Given the description of an element on the screen output the (x, y) to click on. 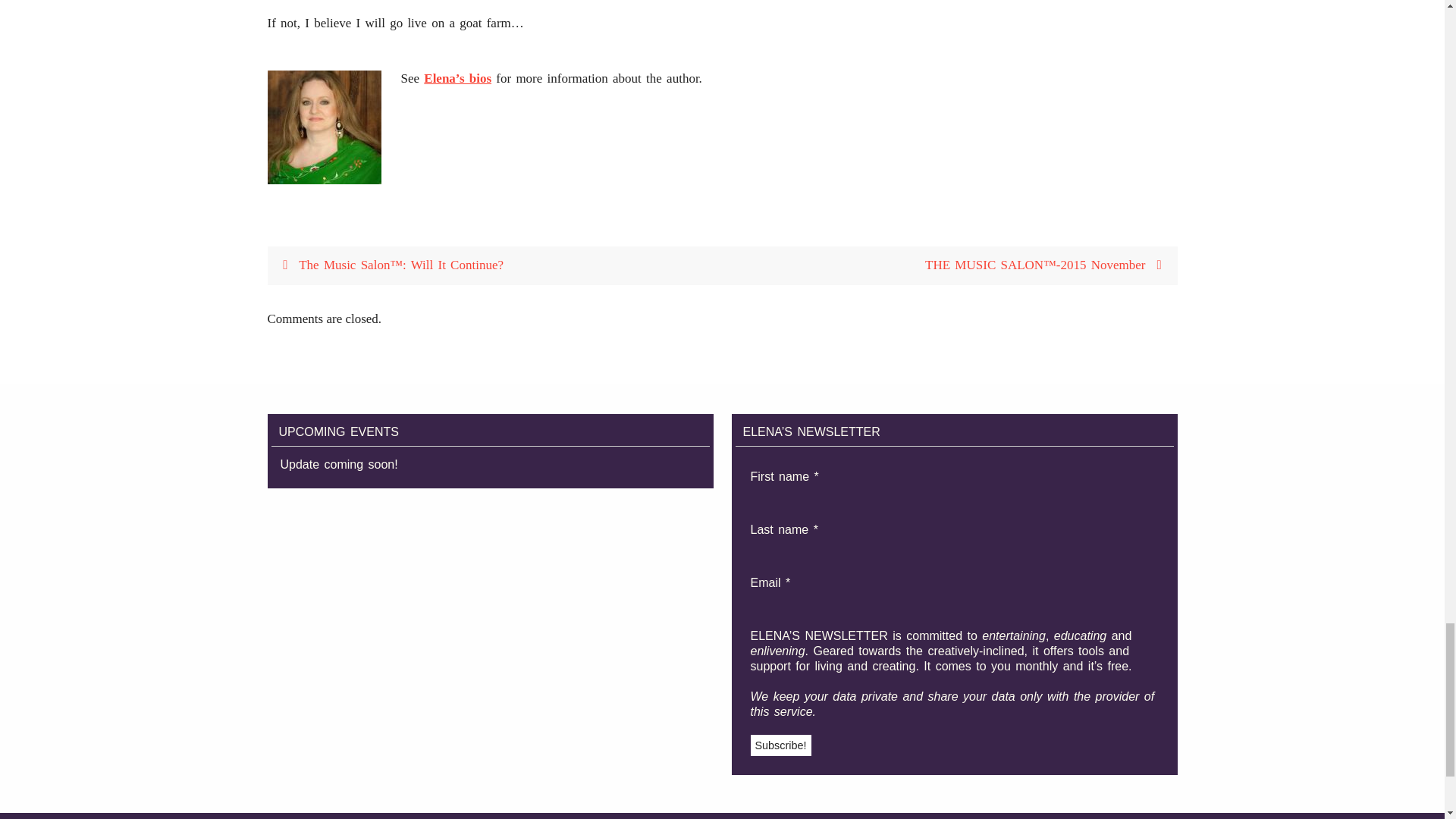
Email (826, 600)
First name (826, 495)
Subscribe! (780, 744)
Last name (826, 548)
